Given the description of an element on the screen output the (x, y) to click on. 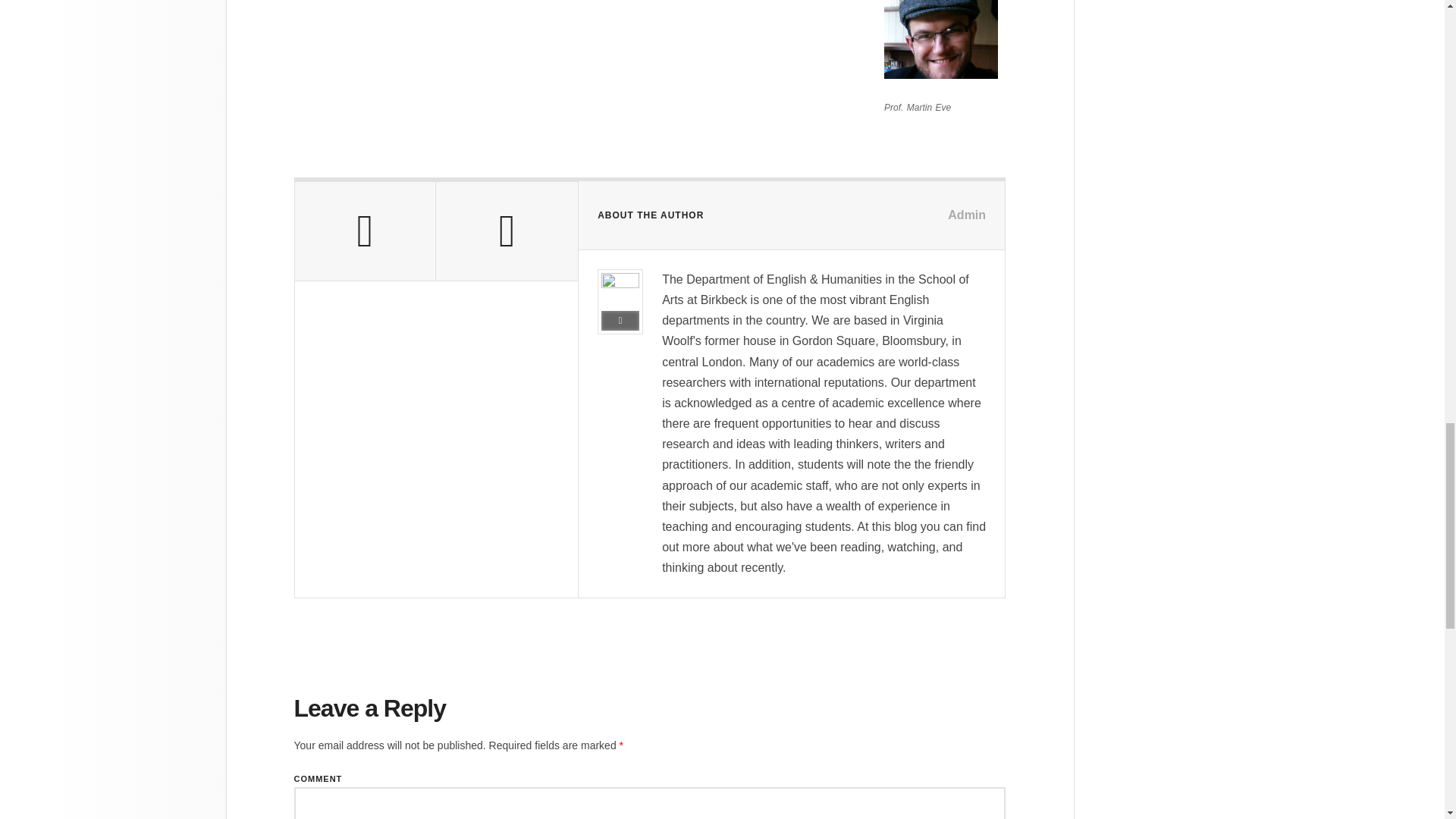
Previous Post (364, 230)
Next Post (506, 230)
Author's Link (620, 320)
